Given the description of an element on the screen output the (x, y) to click on. 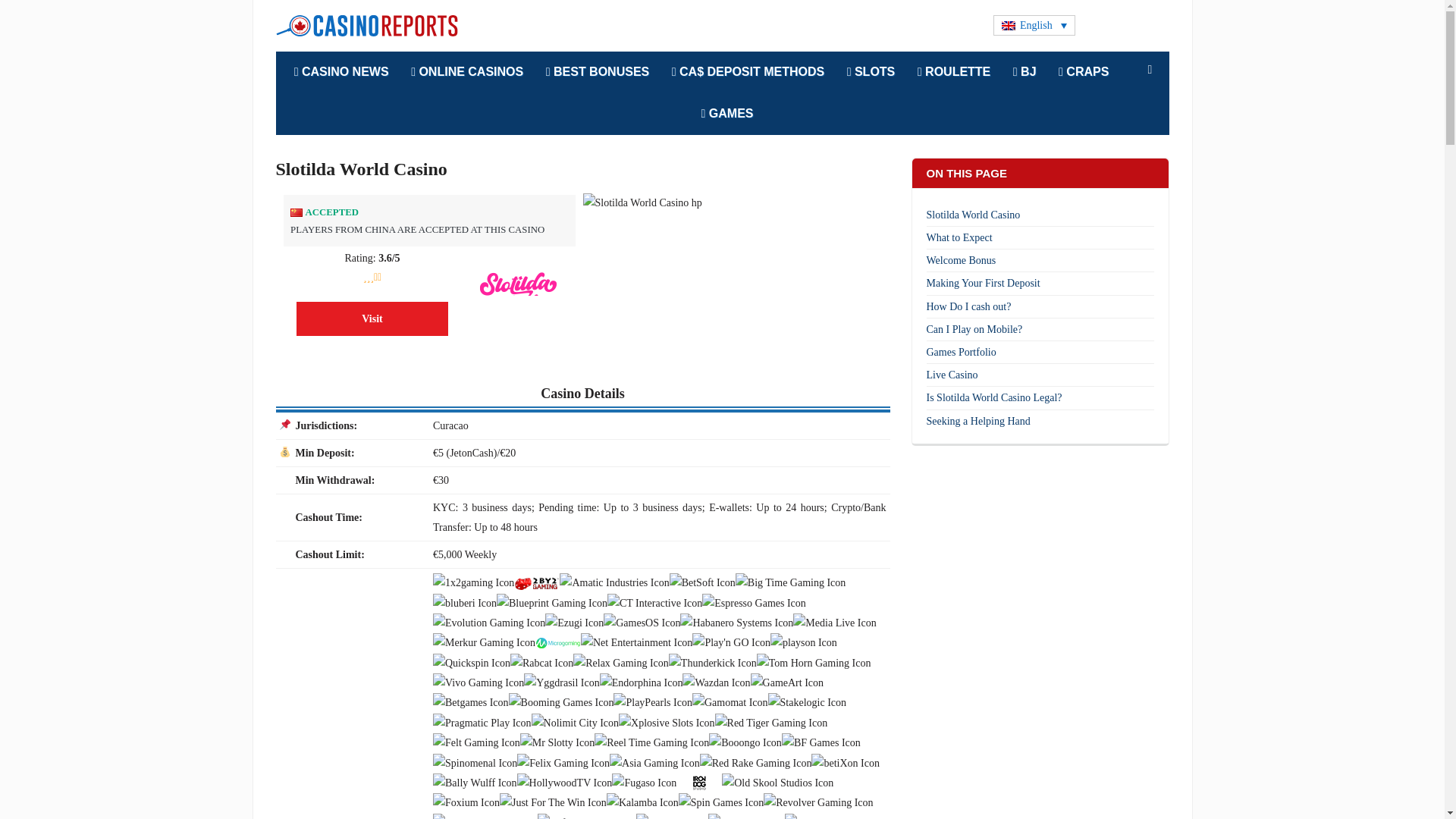
Big Time Gaming (790, 582)
2by2 Gaming (536, 582)
bluberi (464, 601)
English (1033, 25)
Search (1149, 69)
GamesOS (641, 622)
Media Live (834, 622)
Espresso Games (753, 601)
1x2gaming (472, 582)
Ezugi (574, 622)
